Given the description of an element on the screen output the (x, y) to click on. 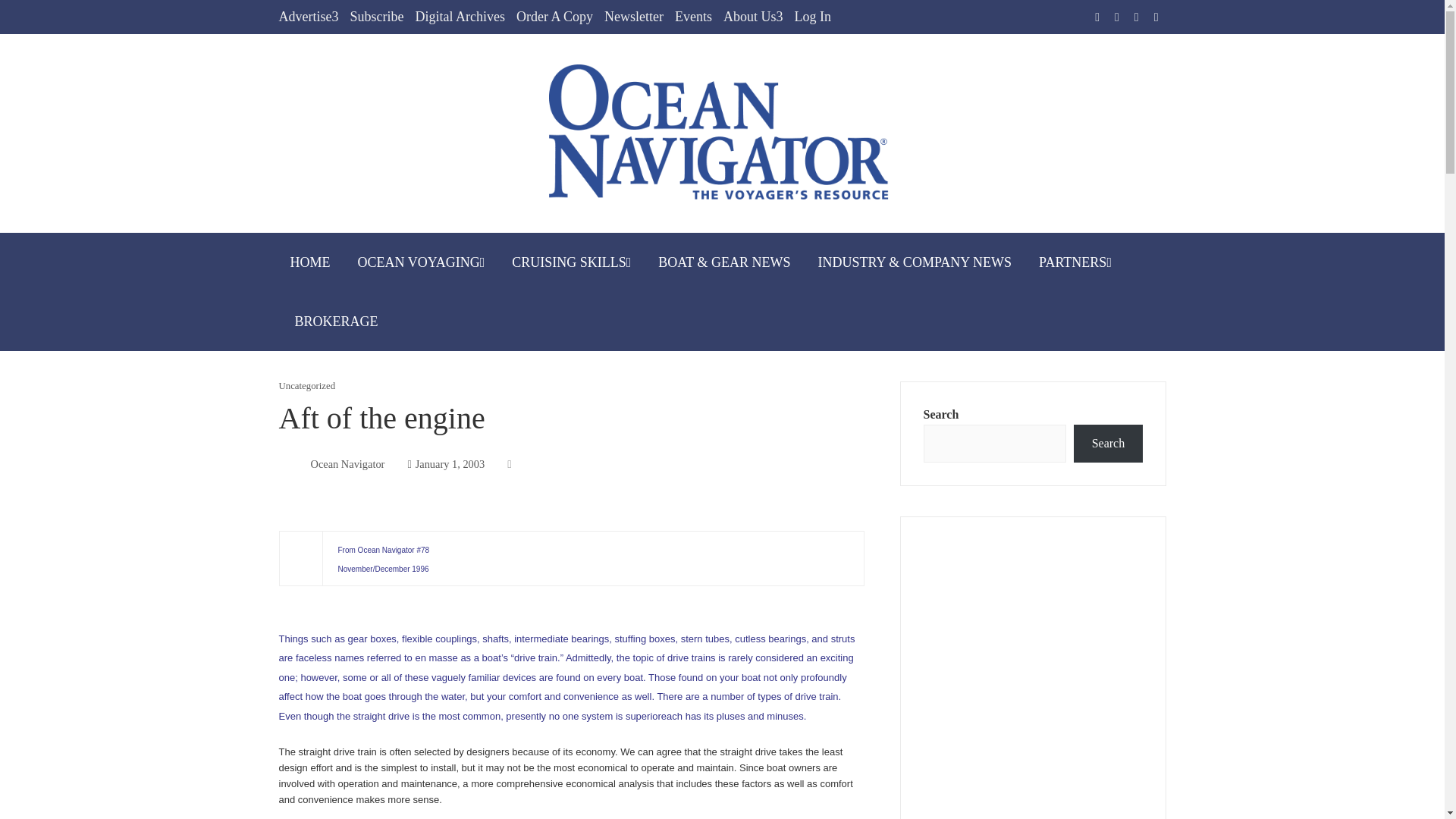
OCEAN VOYAGING (421, 261)
Digital Archives (458, 17)
CRUISING SKILLS (571, 261)
Log In (812, 17)
Subscribe (376, 17)
Order A Copy (554, 17)
Newsletter (633, 17)
PARTNERS (1074, 261)
Advertise (309, 17)
Events (693, 17)
